Given the description of an element on the screen output the (x, y) to click on. 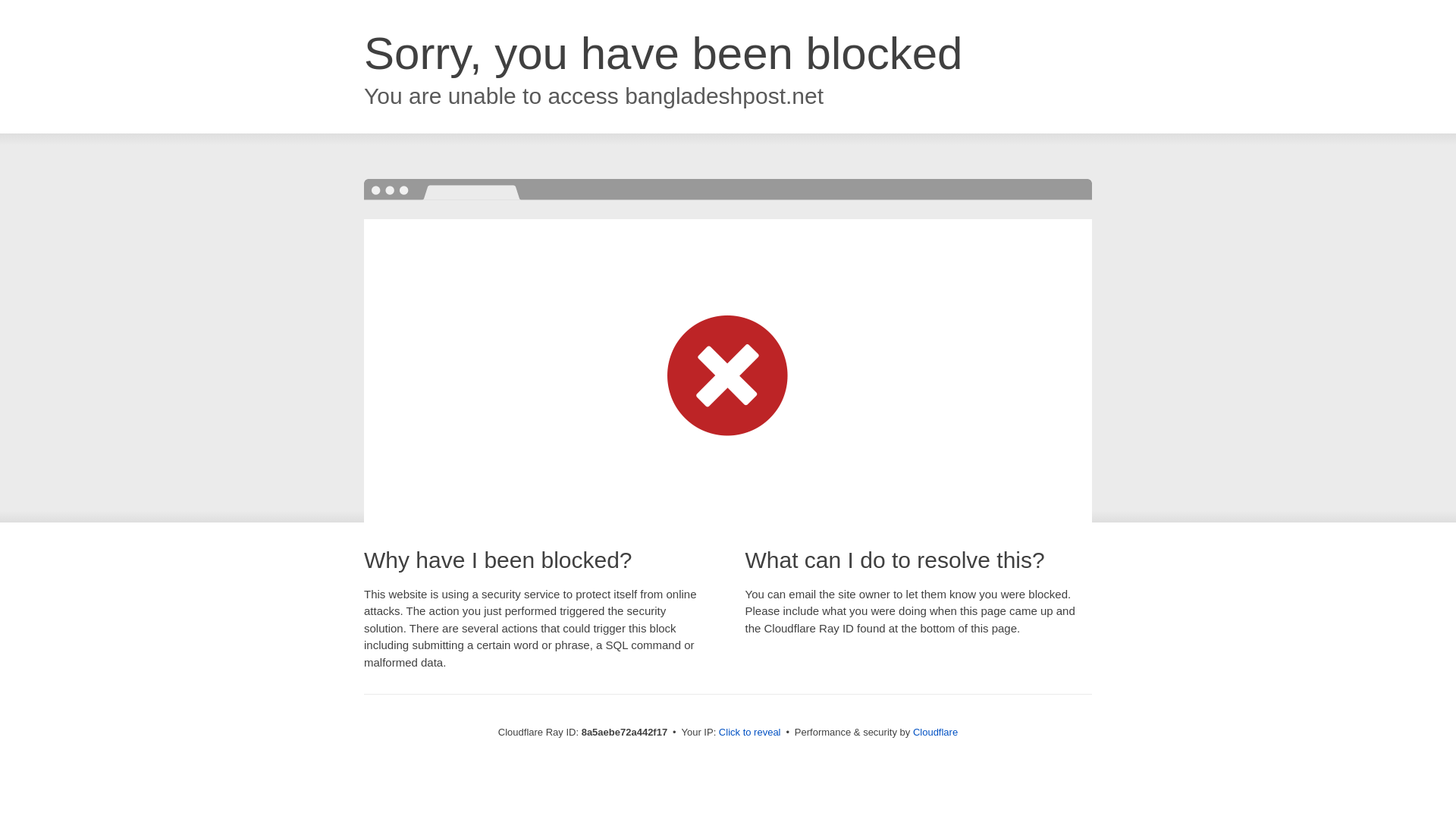
Click to reveal (749, 732)
Cloudflare (935, 731)
